Given the description of an element on the screen output the (x, y) to click on. 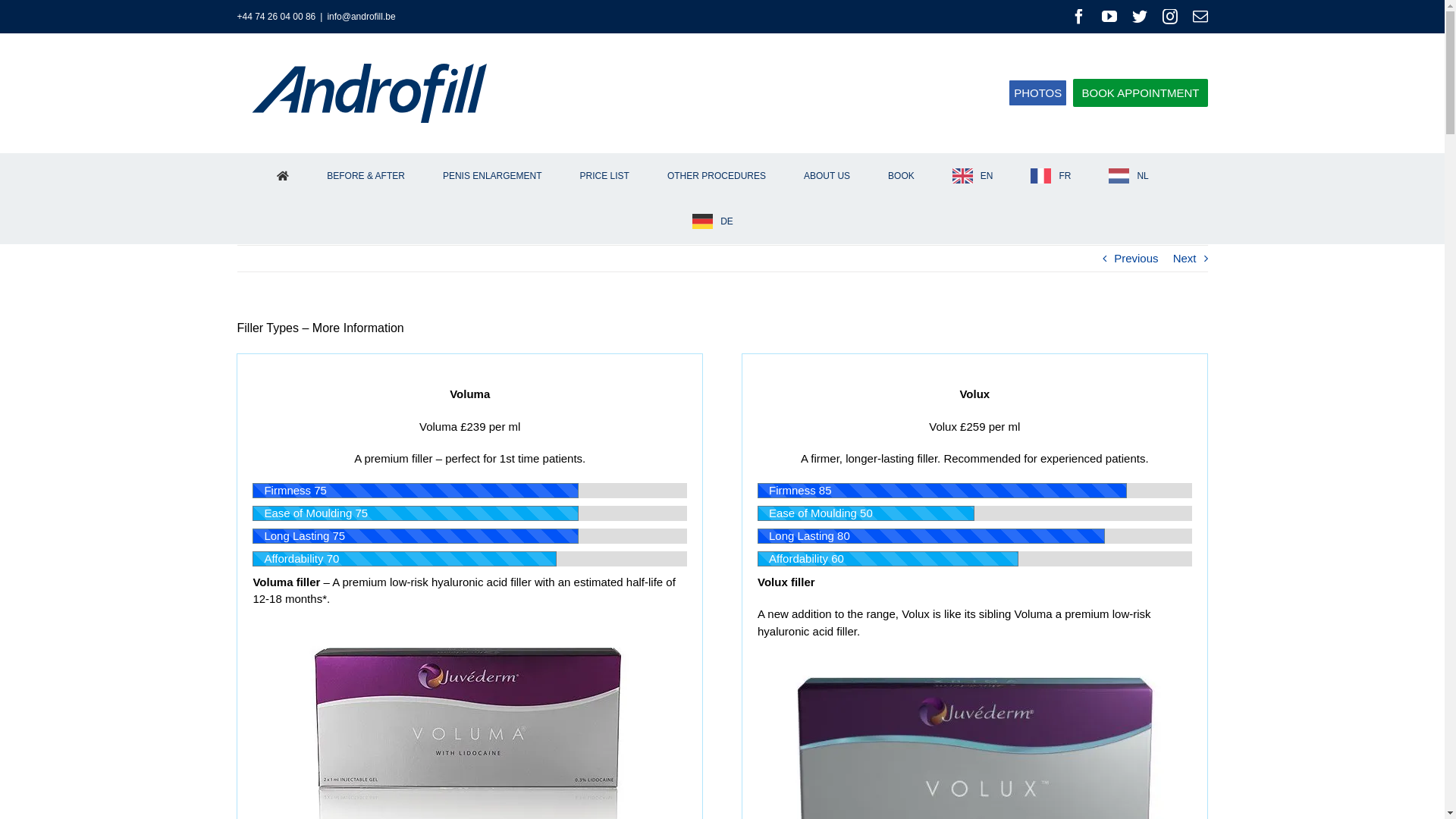
PENIS ENLARGEMENT Element type: text (492, 175)
BOOK APPOINTMENT Element type: text (1140, 92)
Previous Element type: text (1135, 258)
Instagram Element type: text (1168, 16)
info@androfill.be Element type: text (360, 16)
BEFORE & AFTER Element type: text (365, 175)
Facebook Element type: text (1077, 16)
DE Element type: text (713, 221)
NL Element type: text (1128, 175)
PRICE LIST Element type: text (604, 175)
YouTube Element type: text (1108, 16)
FR Element type: text (1050, 175)
ABOUT US Element type: text (826, 175)
EN Element type: text (972, 175)
Twitter Element type: text (1138, 16)
PHOTOS Element type: text (1037, 92)
Email Element type: text (1199, 16)
BOOK Element type: text (901, 175)
Next Element type: text (1184, 258)
OTHER PROCEDURES Element type: text (716, 175)
